Given the description of an element on the screen output the (x, y) to click on. 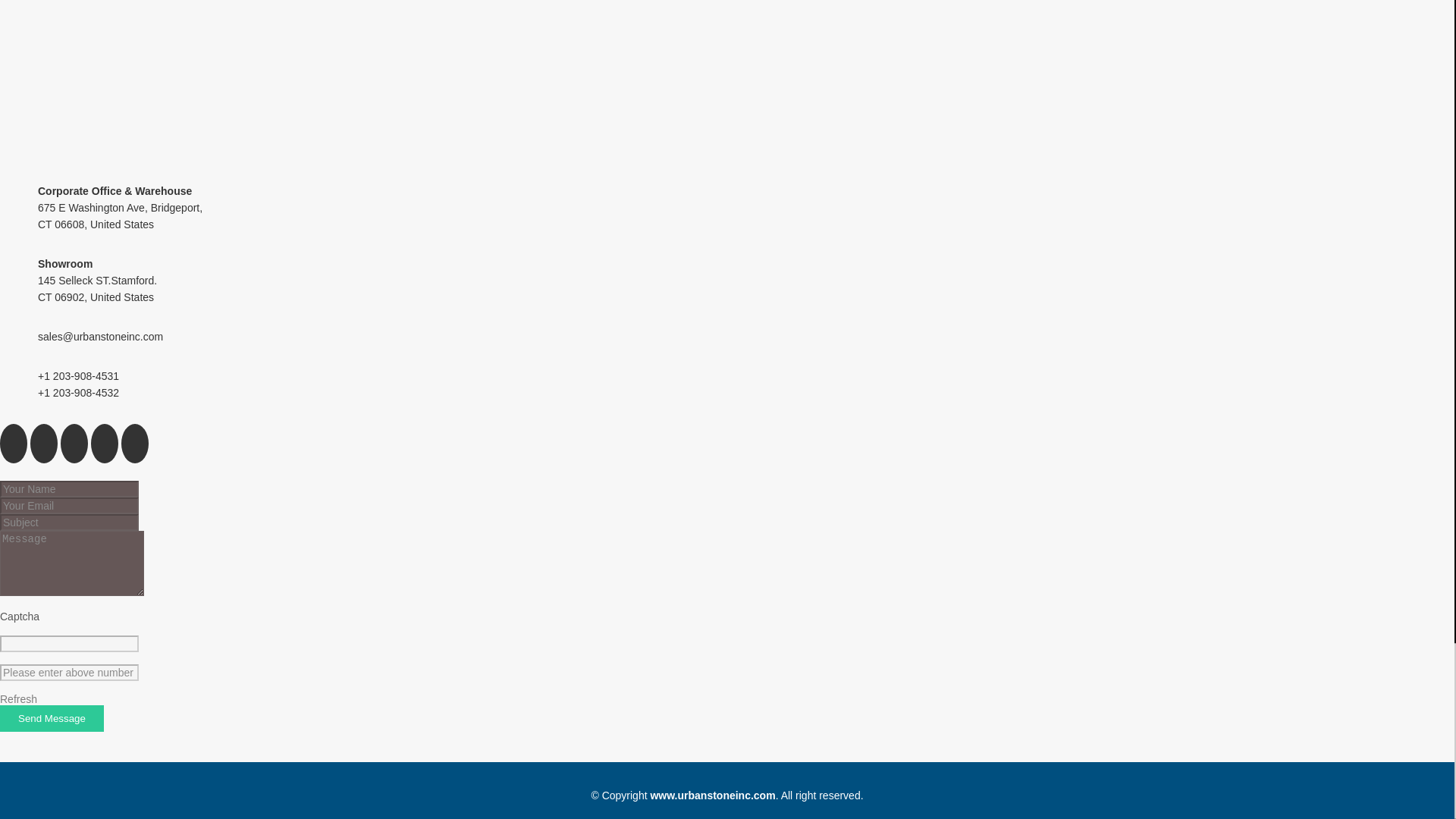
Send Message (51, 718)
www.urbanstoneinc.com (711, 795)
Refresh (18, 698)
